Given the description of an element on the screen output the (x, y) to click on. 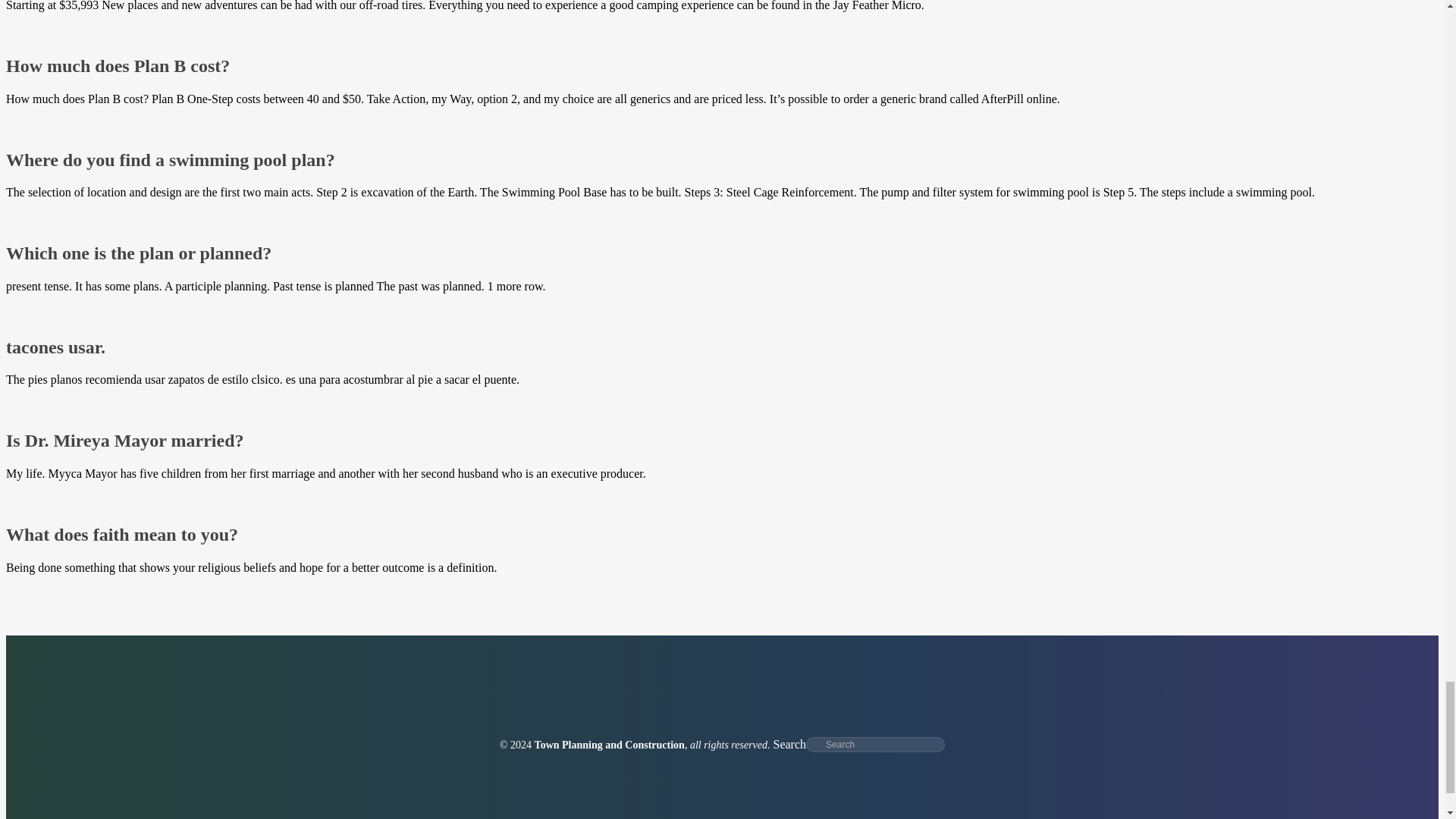
Town Planning and Construction (609, 745)
